Given the description of an element on the screen output the (x, y) to click on. 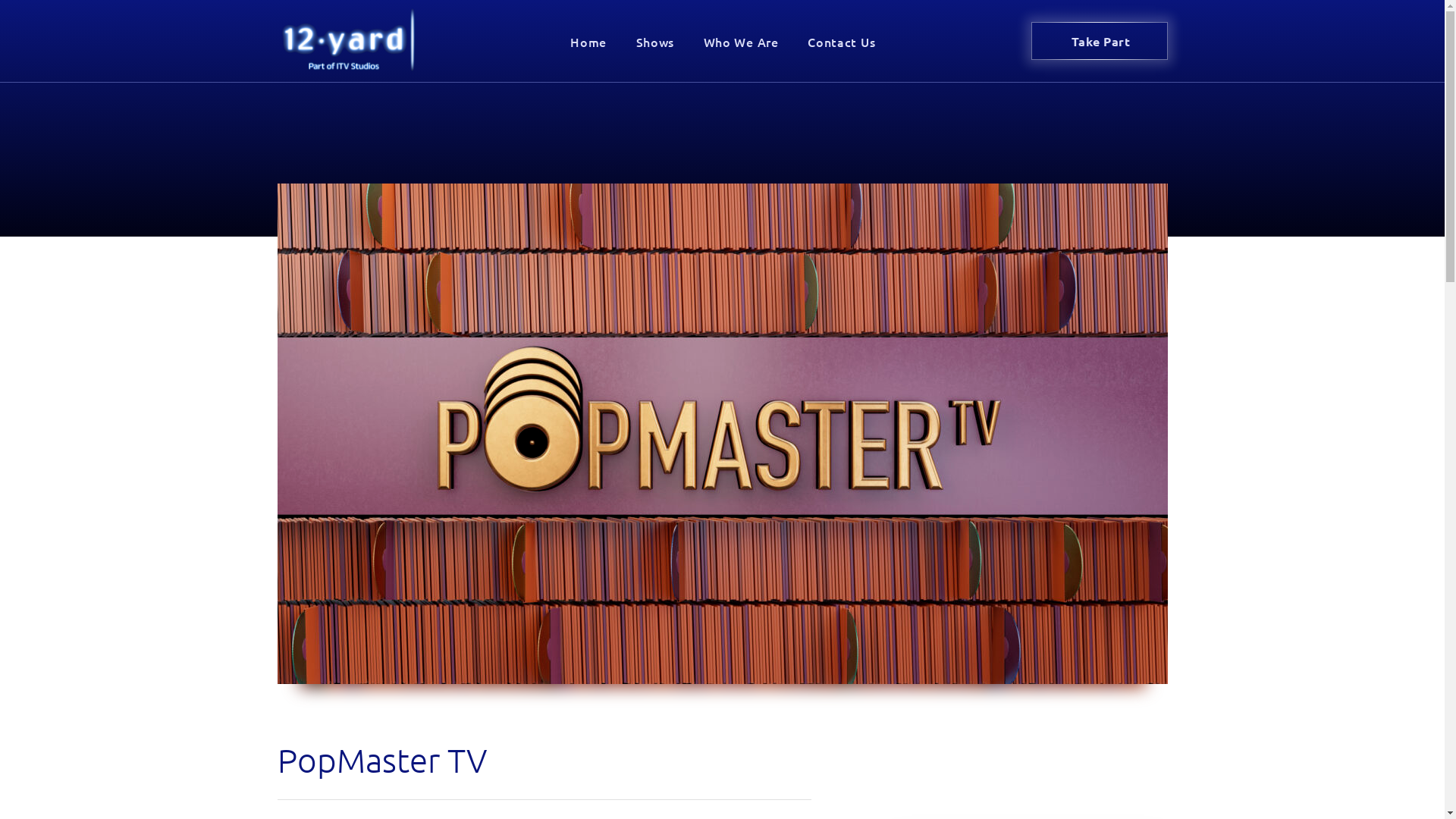
Who We Are Element type: text (740, 40)
Home Element type: text (587, 40)
Contact Us Element type: text (840, 40)
Take Part Element type: text (1099, 40)
Shows Element type: text (654, 40)
